Given the description of an element on the screen output the (x, y) to click on. 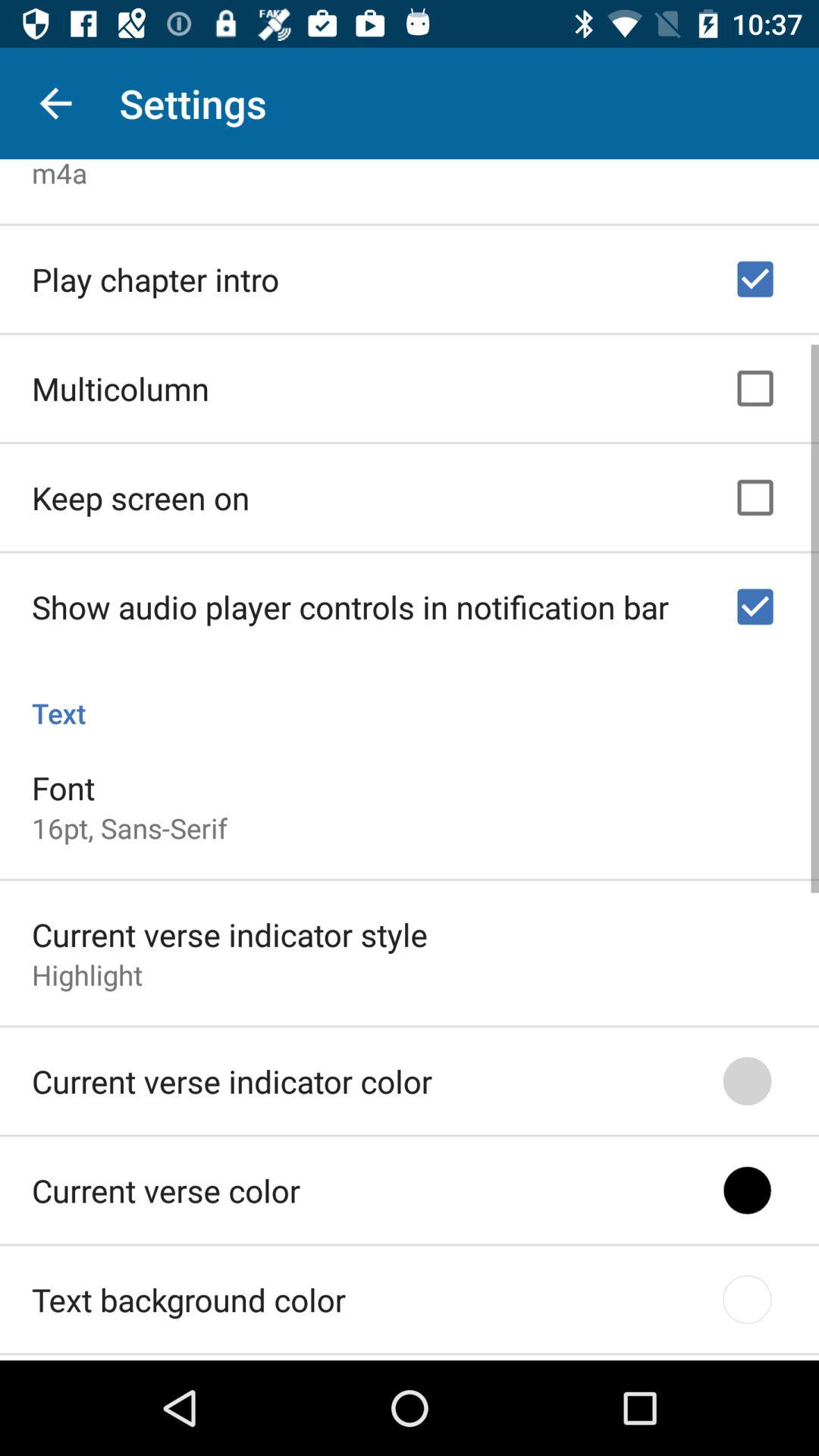
turn off the icon above the show audio player (140, 492)
